Given the description of an element on the screen output the (x, y) to click on. 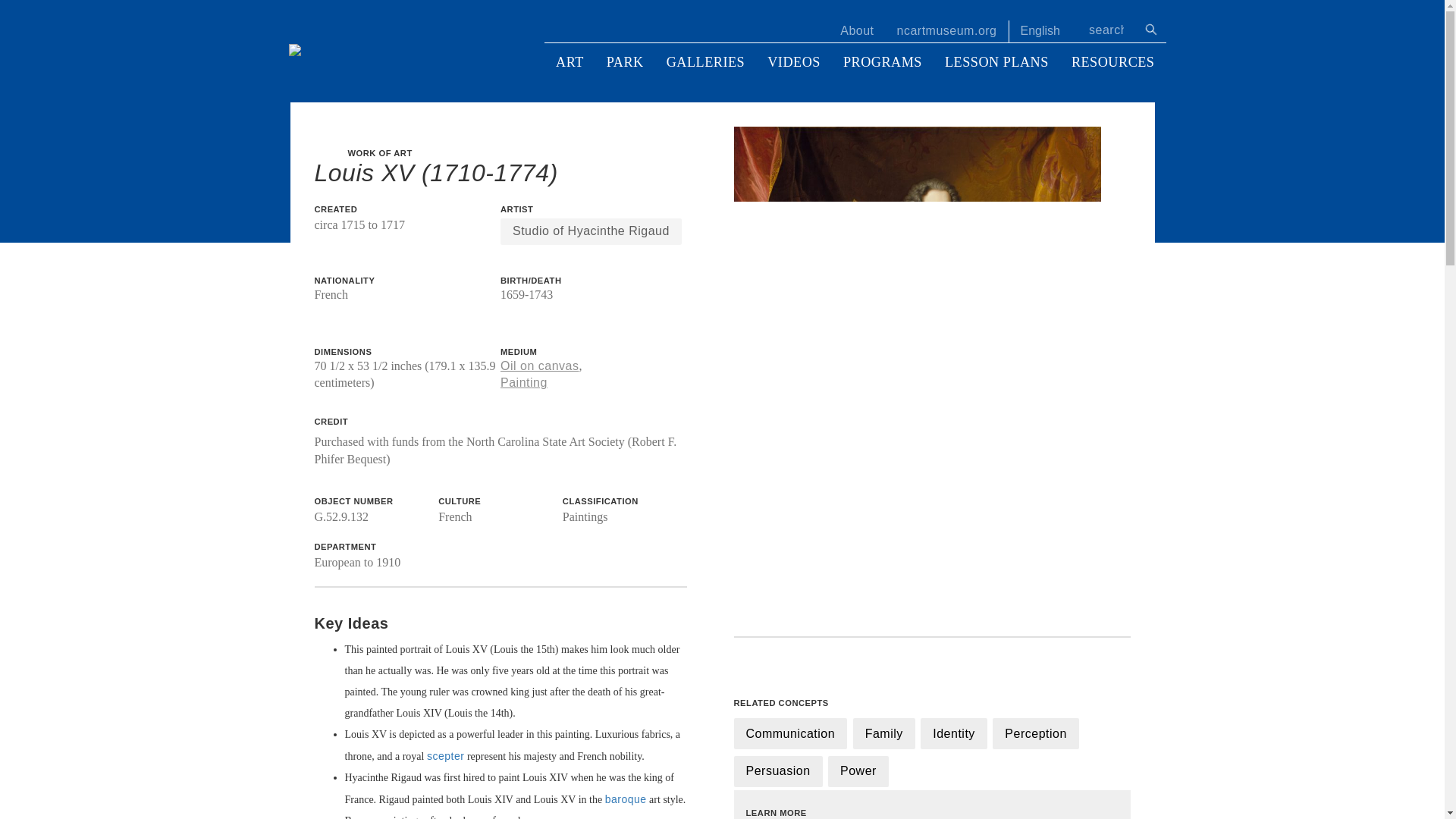
VIDEOS (793, 62)
ART (569, 62)
PROGRAMS (882, 62)
Go to home page. (396, 48)
GALLERIES (706, 62)
LESSON PLANS (996, 62)
PARK (625, 62)
